Given the description of an element on the screen output the (x, y) to click on. 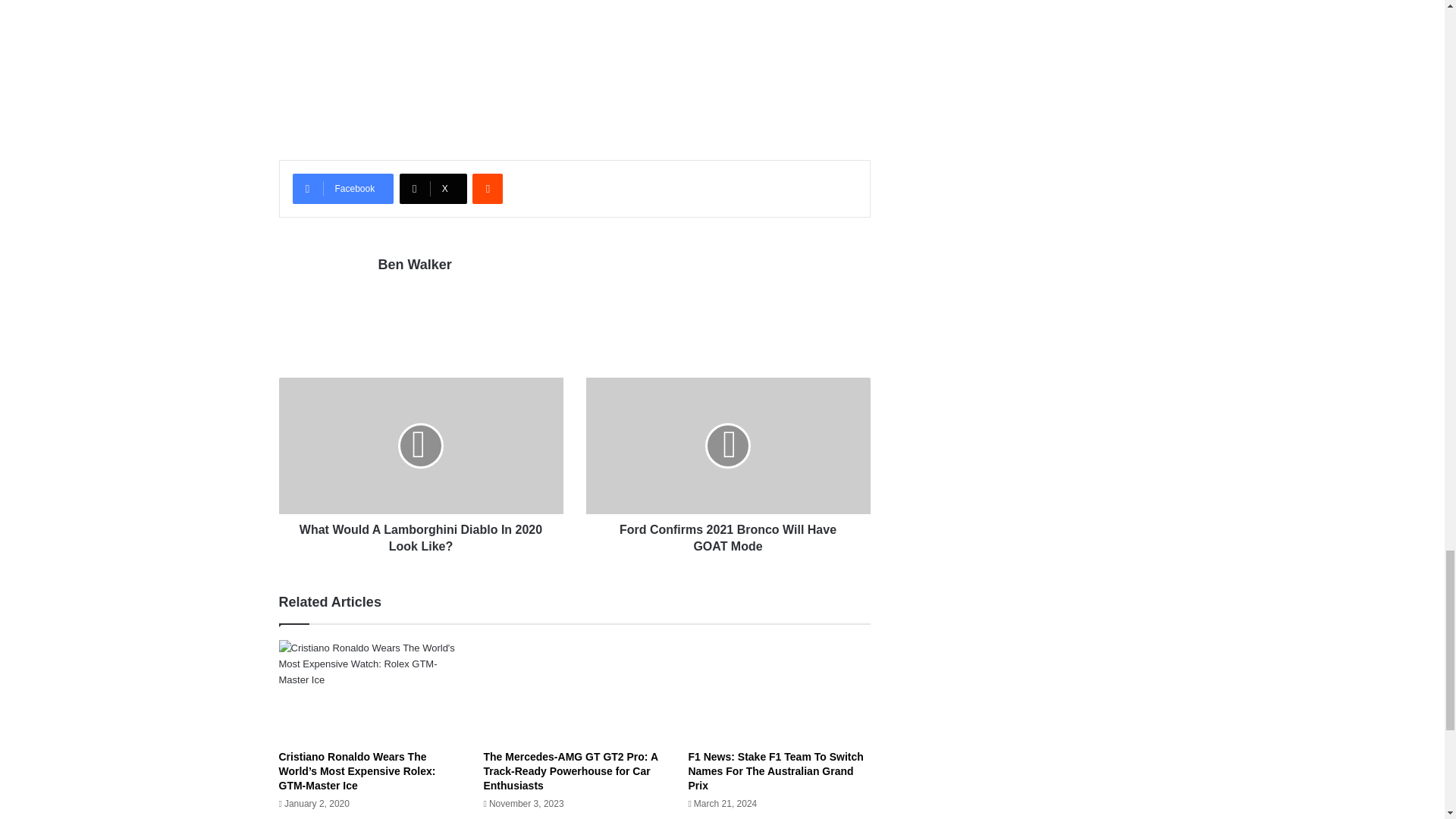
X (432, 188)
Reddit (486, 188)
Facebook (343, 188)
